Given the description of an element on the screen output the (x, y) to click on. 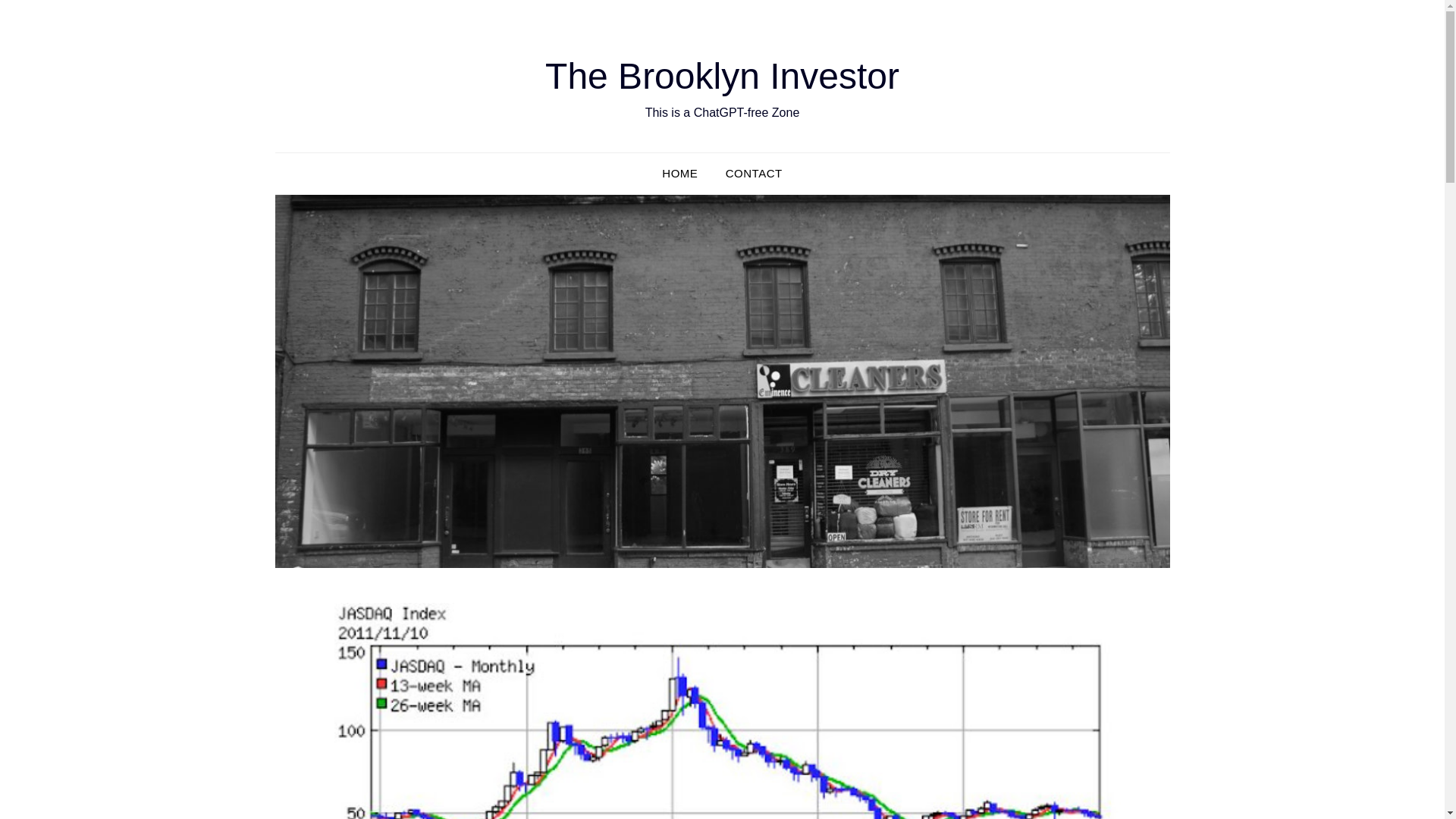
The Brooklyn Investor (721, 76)
CONTACT (753, 173)
HOME (679, 173)
